Given the description of an element on the screen output the (x, y) to click on. 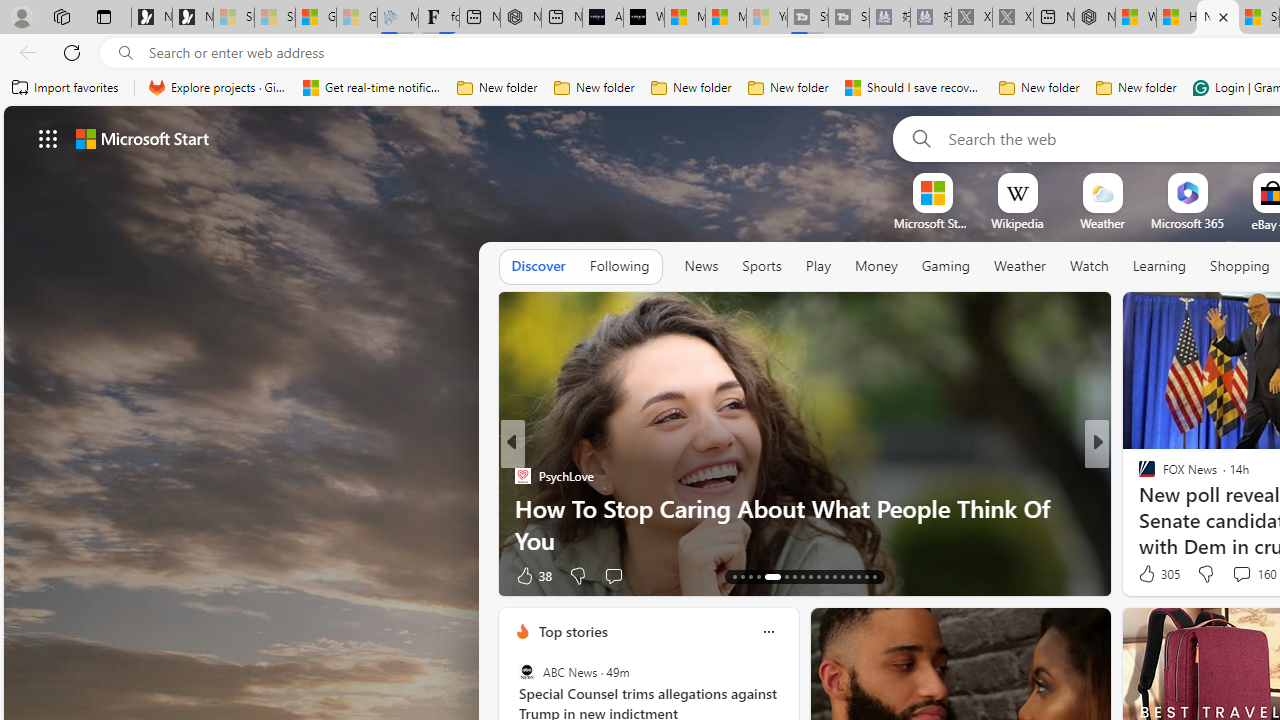
Wikipedia (1017, 223)
AutomationID: tab-23 (825, 576)
AI Voice Changer for PC and Mac - Voice.ai (602, 17)
Kathy Kingsley (1138, 475)
AutomationID: tab-40 (850, 576)
AutomationID: tab-13 (733, 576)
Tom's Guide (1138, 507)
